Given the description of an element on the screen output the (x, y) to click on. 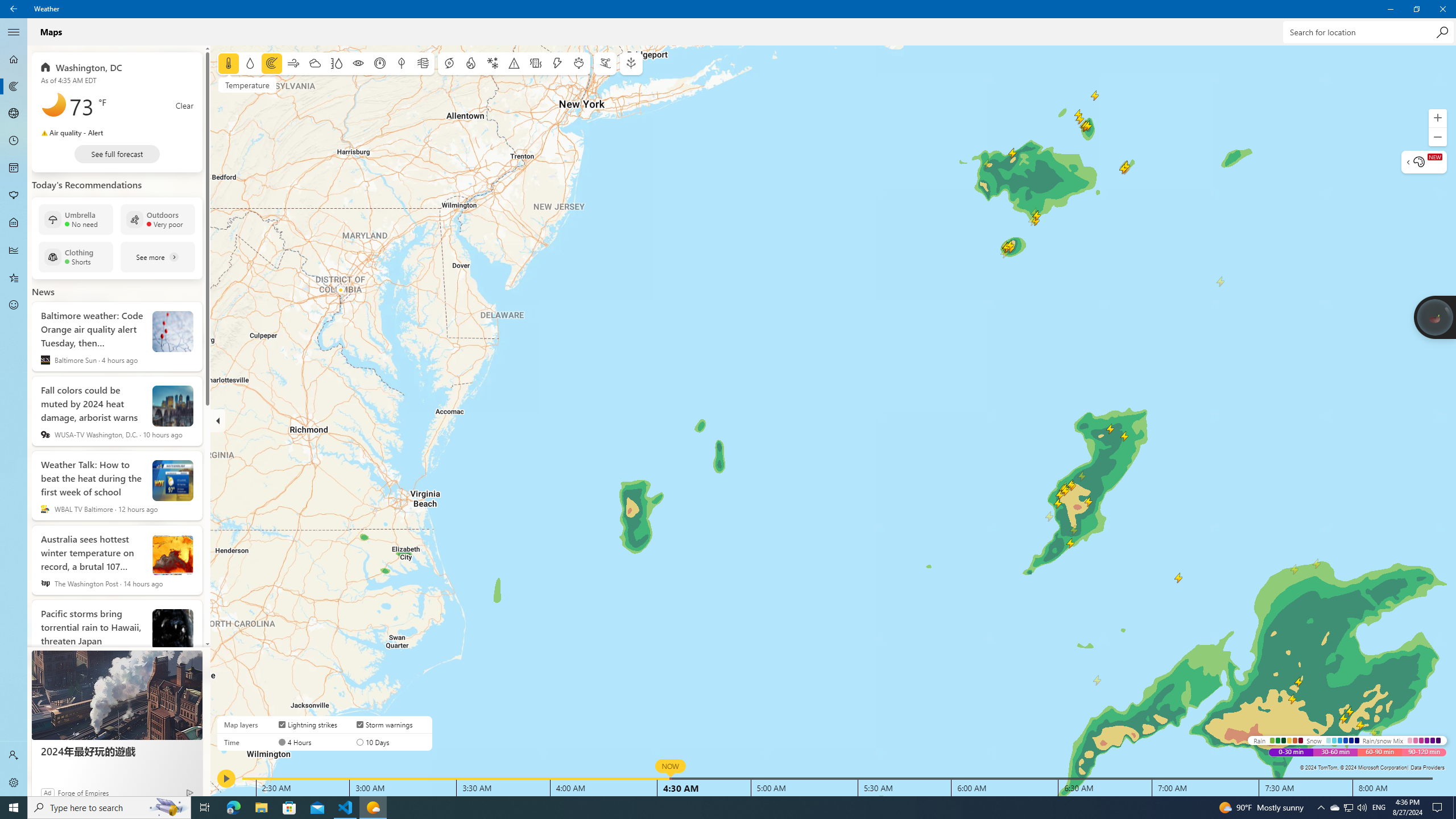
Favorites - Not Selected (13, 277)
User Promoted Notification Area (1347, 807)
Collapse Navigation (13, 31)
Favorites - Not Selected (1333, 807)
Settings (13, 277)
Microsoft Edge (13, 782)
Life - Not Selected (233, 807)
Search highlights icon opens search home window (13, 222)
Close Weather (167, 807)
Hourly Forecast - Not Selected (1442, 9)
Running applications (13, 140)
Pollen - Not Selected (706, 807)
Historical Weather - Not Selected (13, 195)
Maps - Not Selected (13, 249)
